Given the description of an element on the screen output the (x, y) to click on. 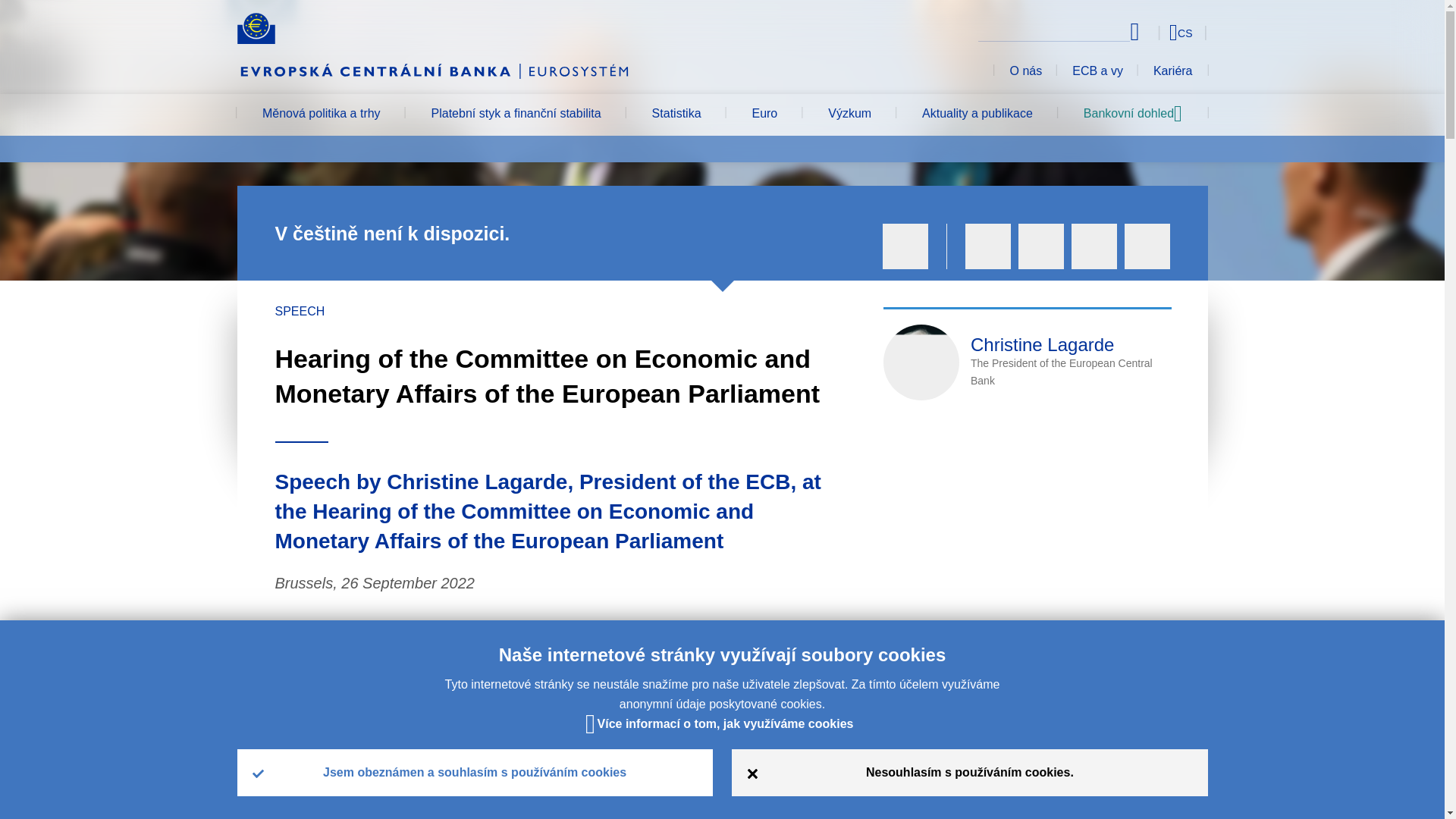
Select language (1153, 32)
